Given the description of an element on the screen output the (x, y) to click on. 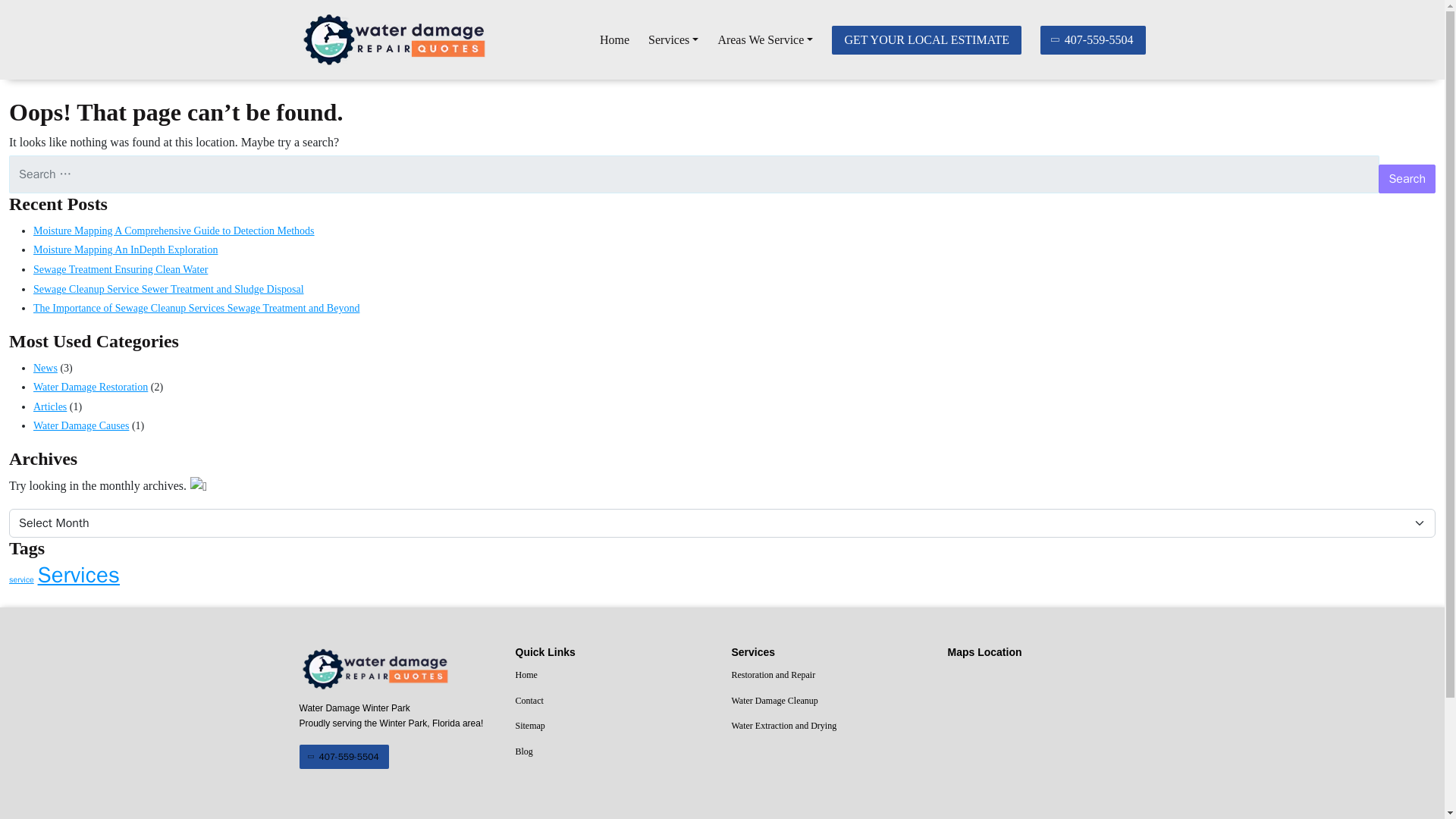
Home (614, 675)
Home (613, 40)
Sewage Treatment Ensuring Clean Water (120, 269)
Areas We Service (764, 40)
Home (613, 40)
Contact (614, 701)
Articles (49, 406)
service (20, 579)
Sewage Cleanup Service Sewer Treatment and Sludge Disposal (168, 288)
Search (1406, 178)
